Given the description of an element on the screen output the (x, y) to click on. 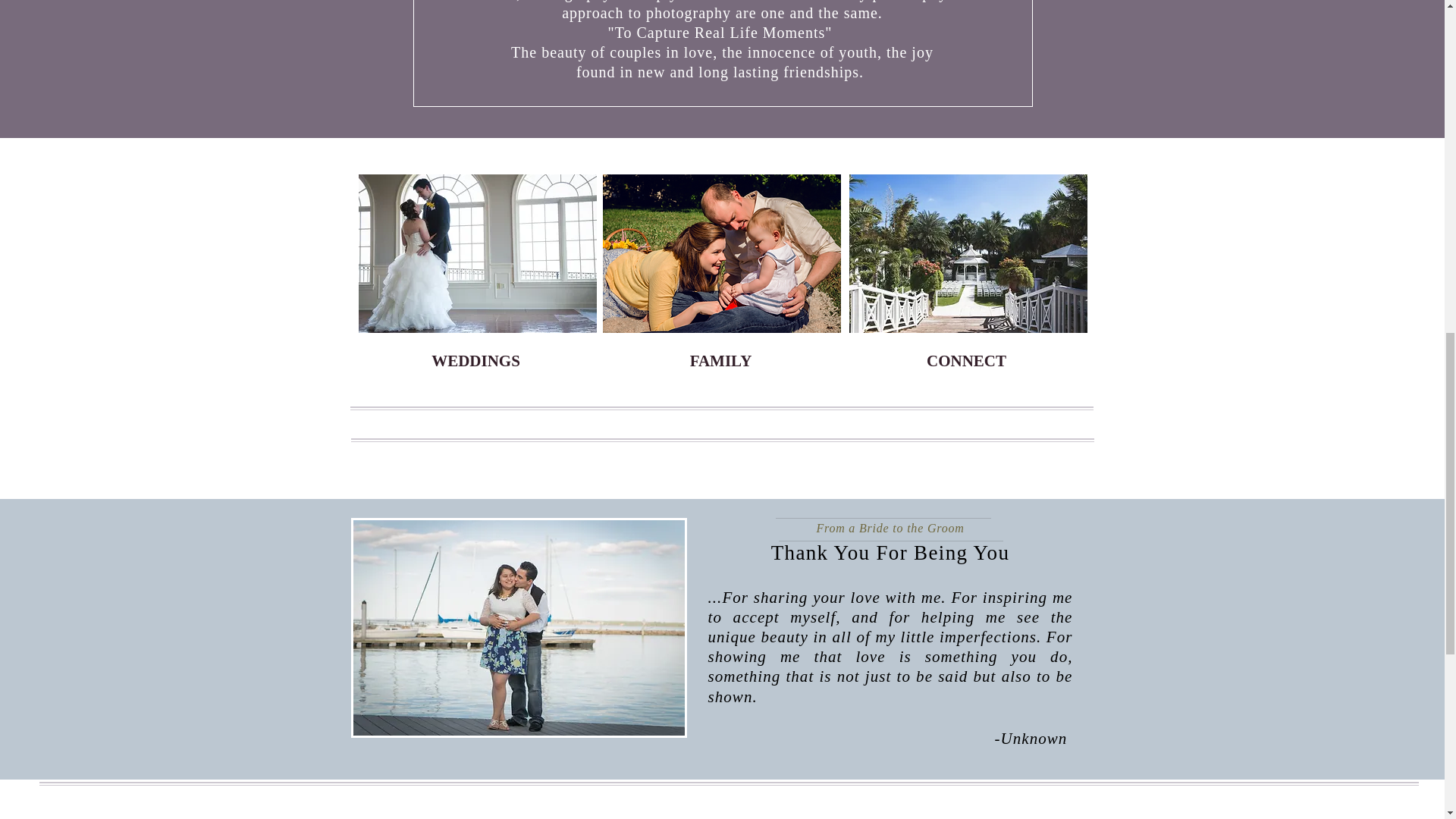
FAMILY (719, 361)
CONNECT (965, 361)
WEDDINGS (476, 361)
